Given the description of an element on the screen output the (x, y) to click on. 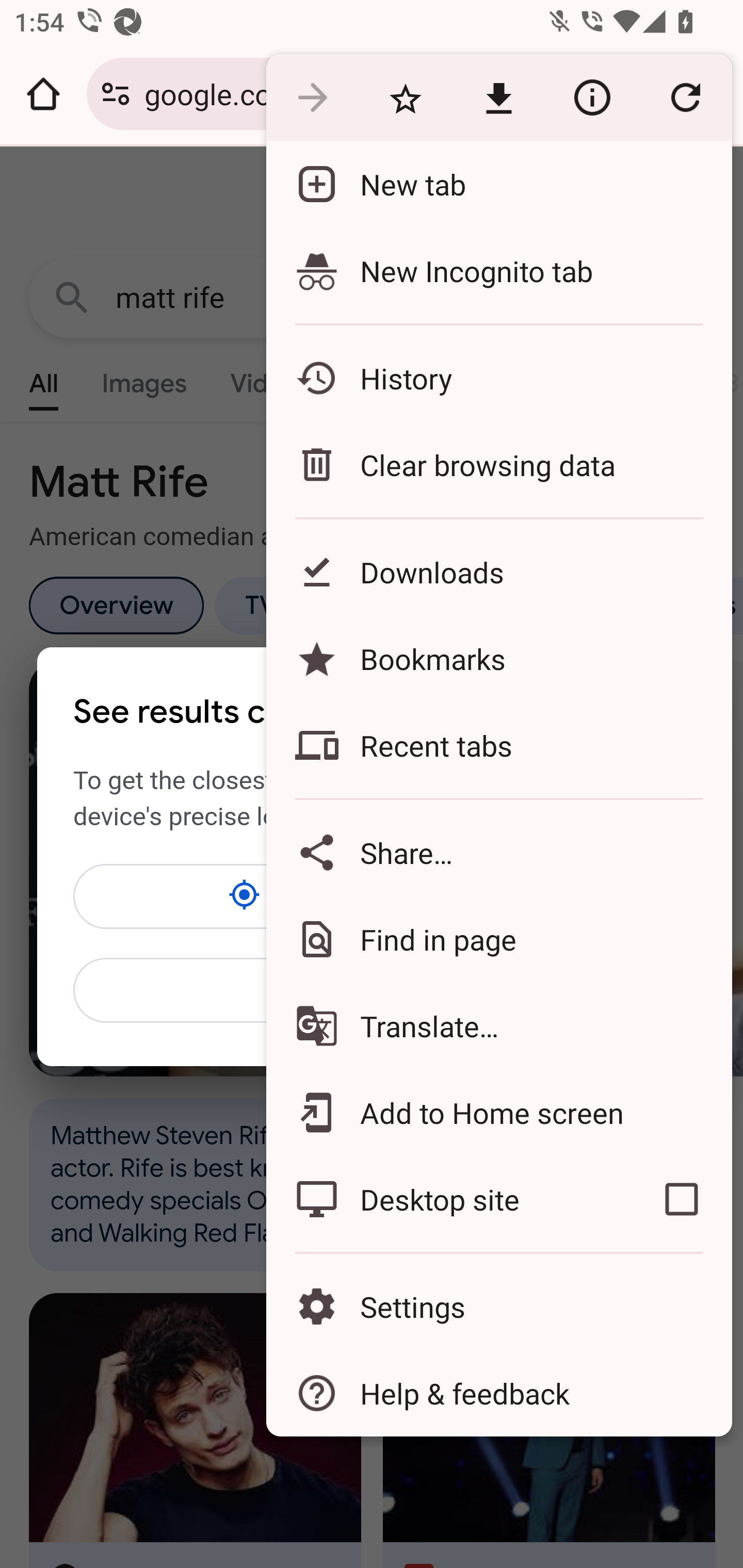
Forward (311, 97)
Bookmark (404, 97)
Download (498, 97)
Page info (591, 97)
Refresh (684, 97)
New tab (498, 184)
New Incognito tab (498, 270)
History (498, 377)
Clear browsing data (498, 464)
Downloads (498, 571)
Bookmarks (498, 658)
Recent tabs (498, 745)
Share… (498, 852)
Find in page (498, 939)
Translate… (498, 1026)
Add to Home screen (498, 1112)
Desktop site Turn on Request desktop site (447, 1198)
Settings (498, 1306)
Help & feedback (498, 1393)
